Given the description of an element on the screen output the (x, y) to click on. 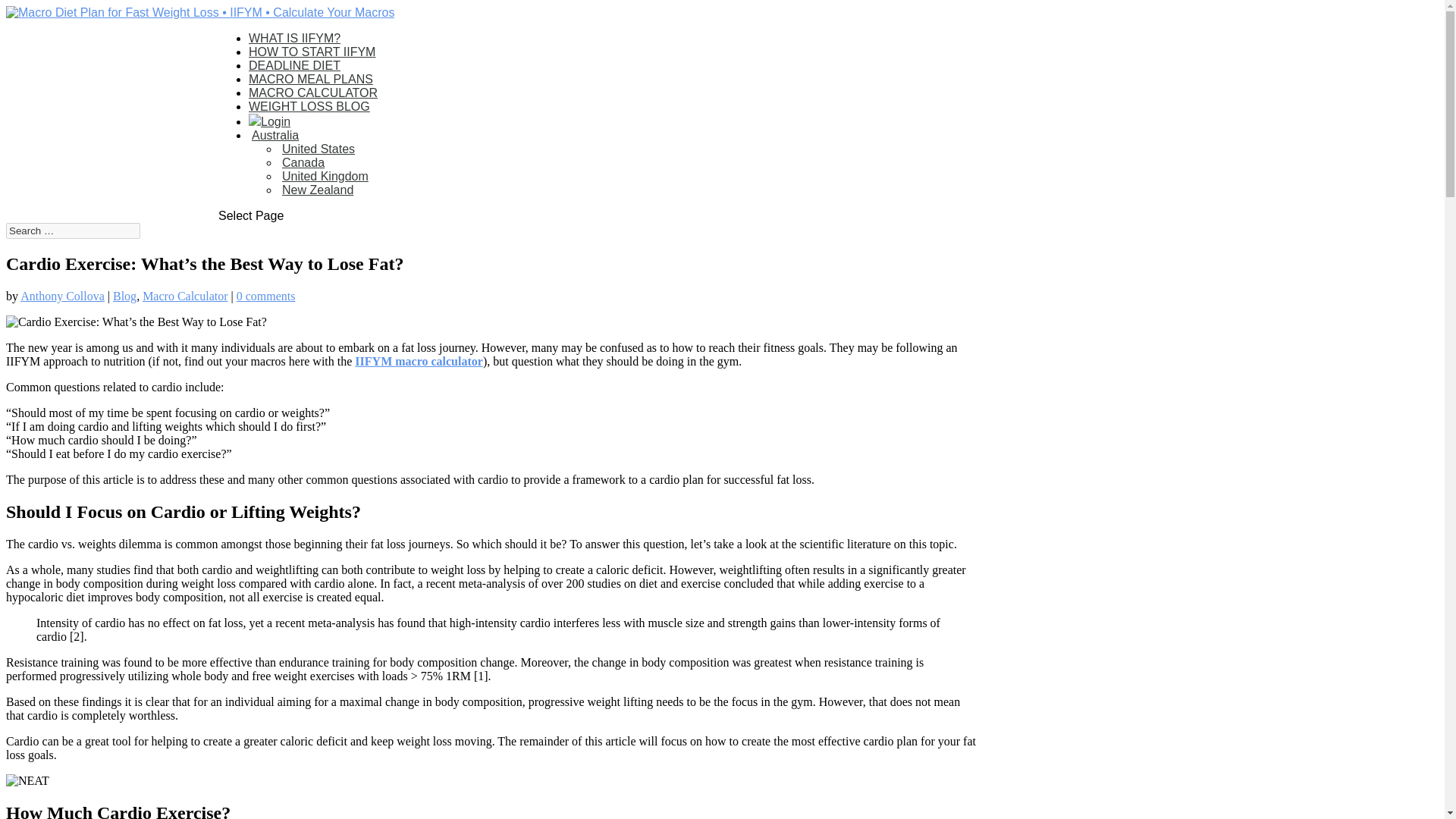
Login (268, 121)
Australia (273, 134)
DEADLINE DIET (294, 65)
Posts by Anthony Collova (62, 295)
IIFYM macro calculator (419, 360)
Search for: (72, 230)
New Zealand (316, 189)
New Zealand (316, 189)
United States (317, 148)
Anthony Collova (62, 295)
